Given the description of an element on the screen output the (x, y) to click on. 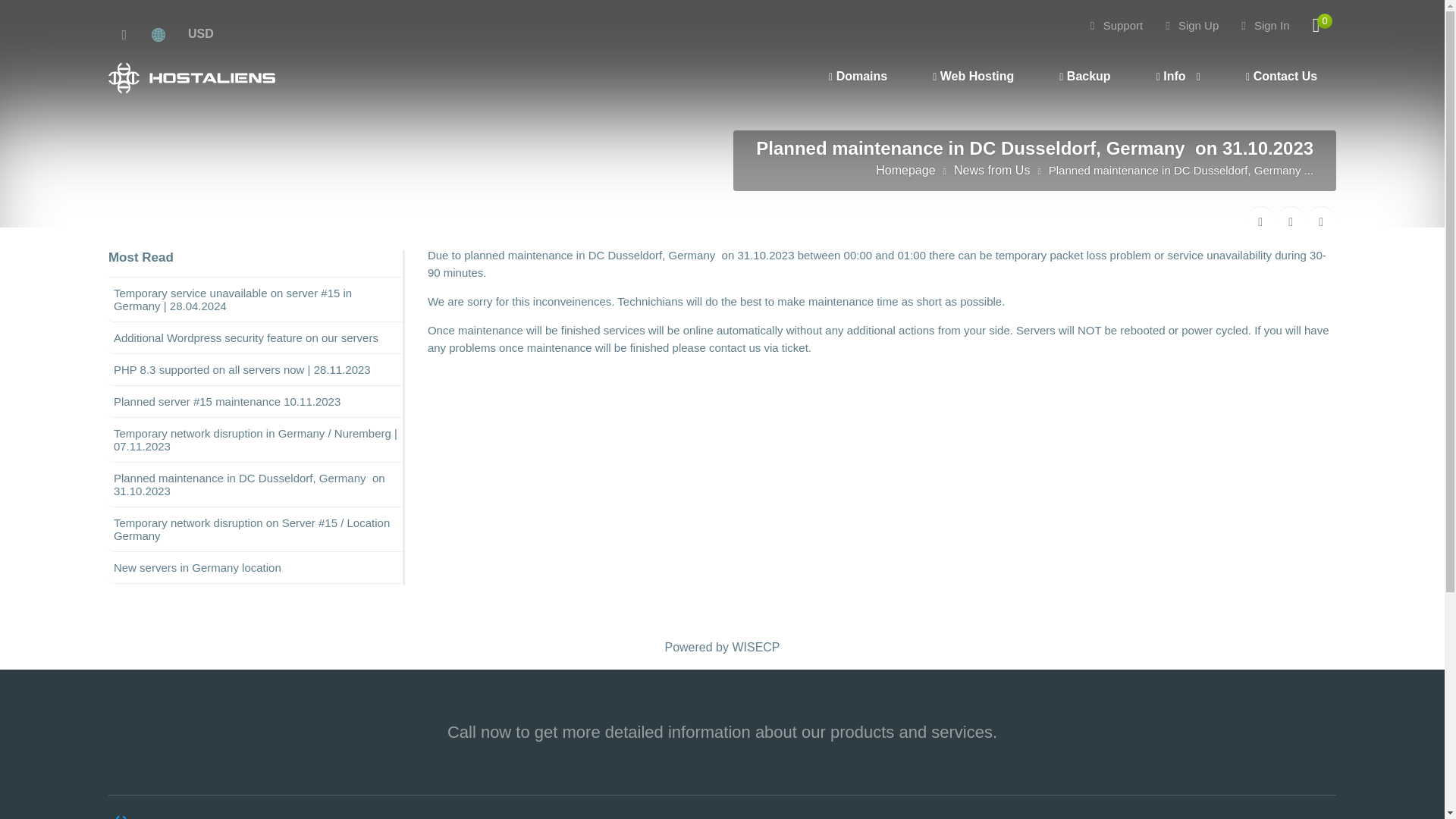
Contact Us (1278, 77)
Backup (1080, 77)
Info (1174, 76)
Web Hosting (968, 77)
Support (1116, 24)
Domains (853, 77)
logo (175, 816)
Sign Up (1192, 24)
USD (200, 33)
Select Your Currency (200, 33)
Sign In (1264, 24)
Logo (191, 78)
Select Your Country (166, 33)
